Given the description of an element on the screen output the (x, y) to click on. 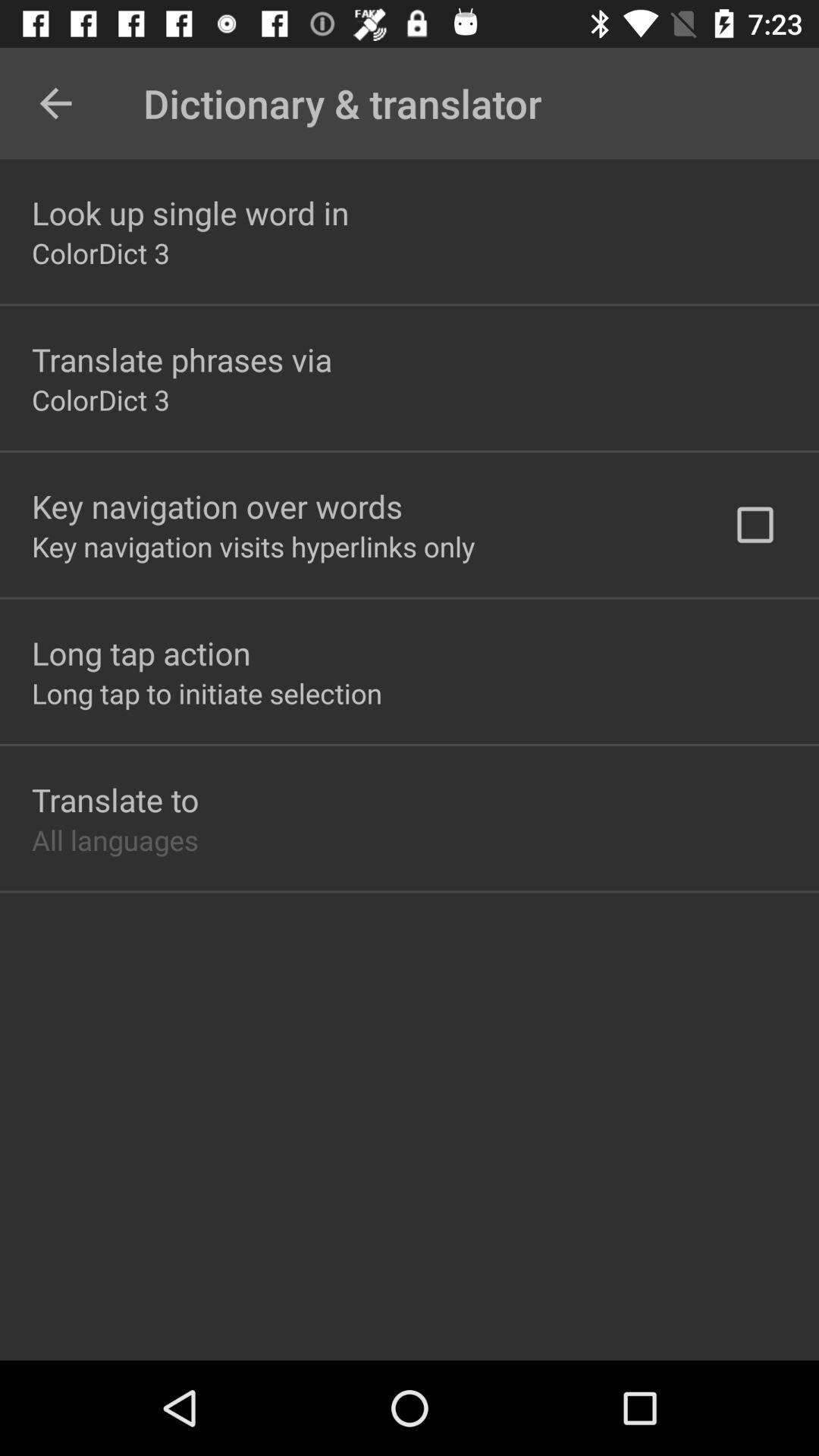
go back (55, 103)
